Given the description of an element on the screen output the (x, y) to click on. 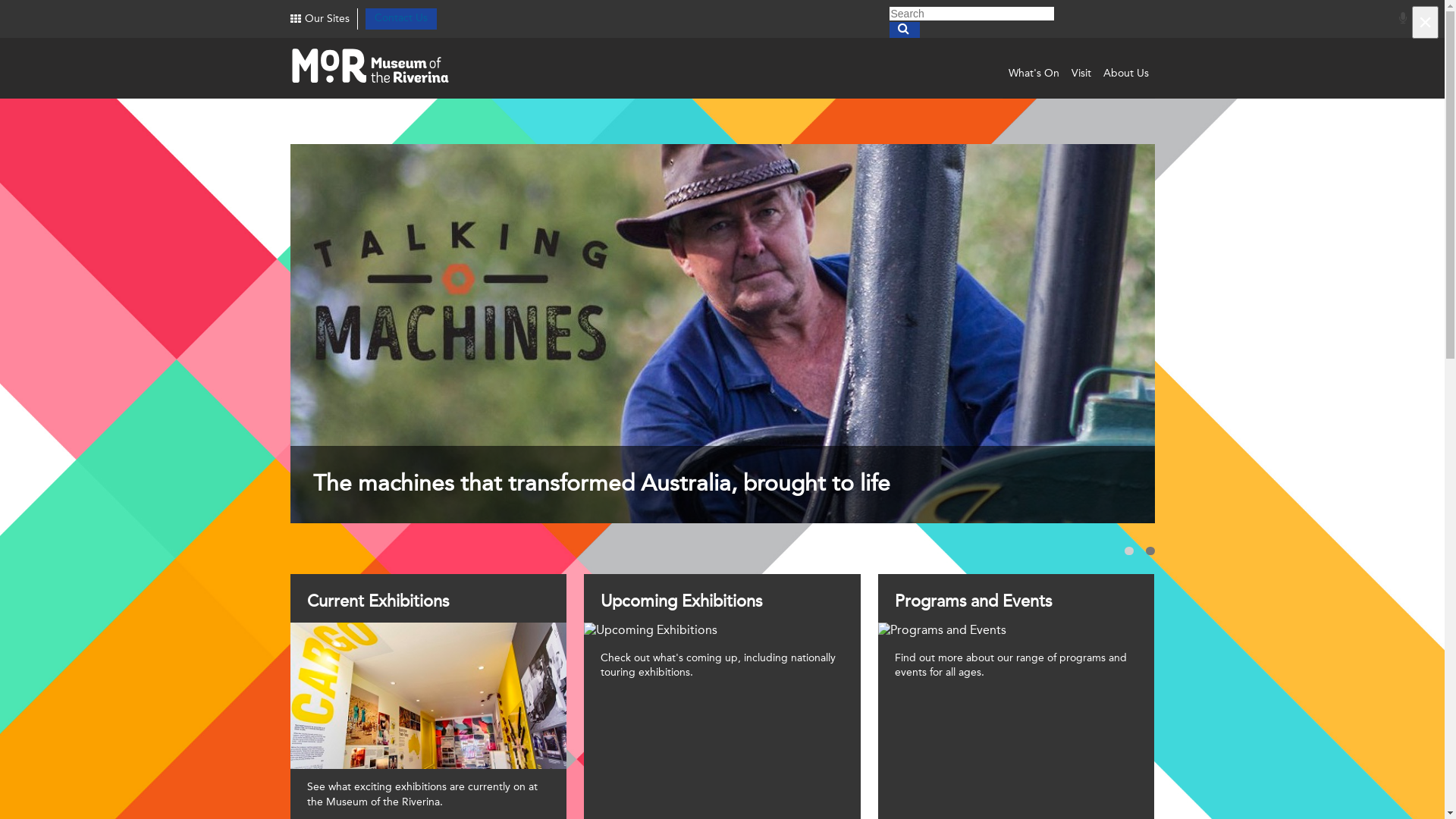
Visit Element type: text (1080, 73)
Our Sites Element type: text (318, 19)
What's On Element type: text (1033, 73)
City of Wagga Wagga Element type: text (384, 67)
About Us Element type: text (1125, 73)
2 Element type: text (1149, 550)
Search button Element type: hover (903, 29)
Contact Us Element type: text (400, 18)
1 Element type: text (1127, 550)
The machines that transformed Australia, brought to life Element type: text (721, 333)
Search Element type: hover (970, 13)
